Given the description of an element on the screen output the (x, y) to click on. 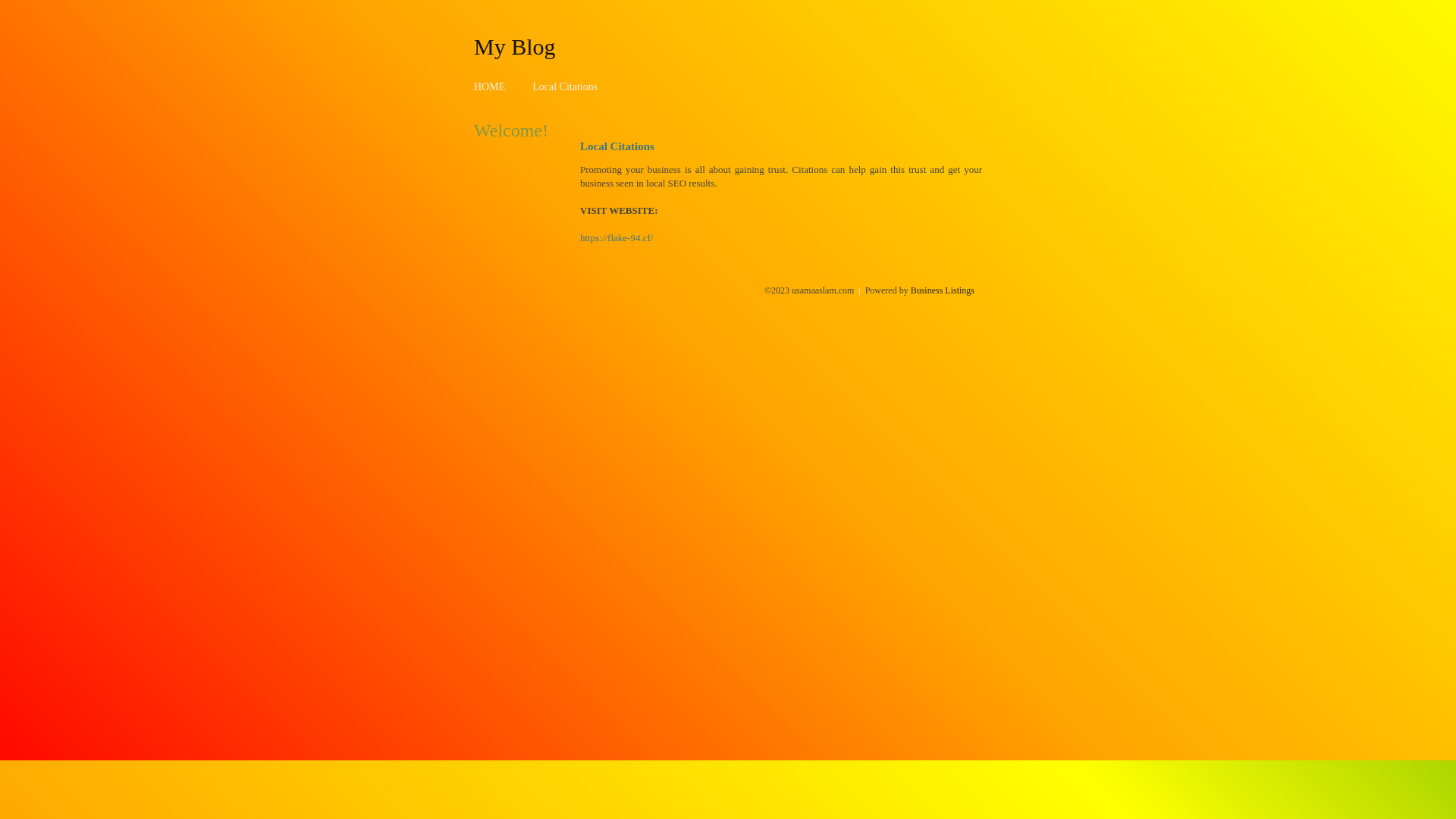
Business Listings Element type: text (942, 290)
HOME Element type: text (489, 86)
My Blog Element type: text (514, 46)
Local Citations Element type: text (564, 86)
https://flake-94.cf/ Element type: text (616, 237)
